Given the description of an element on the screen output the (x, y) to click on. 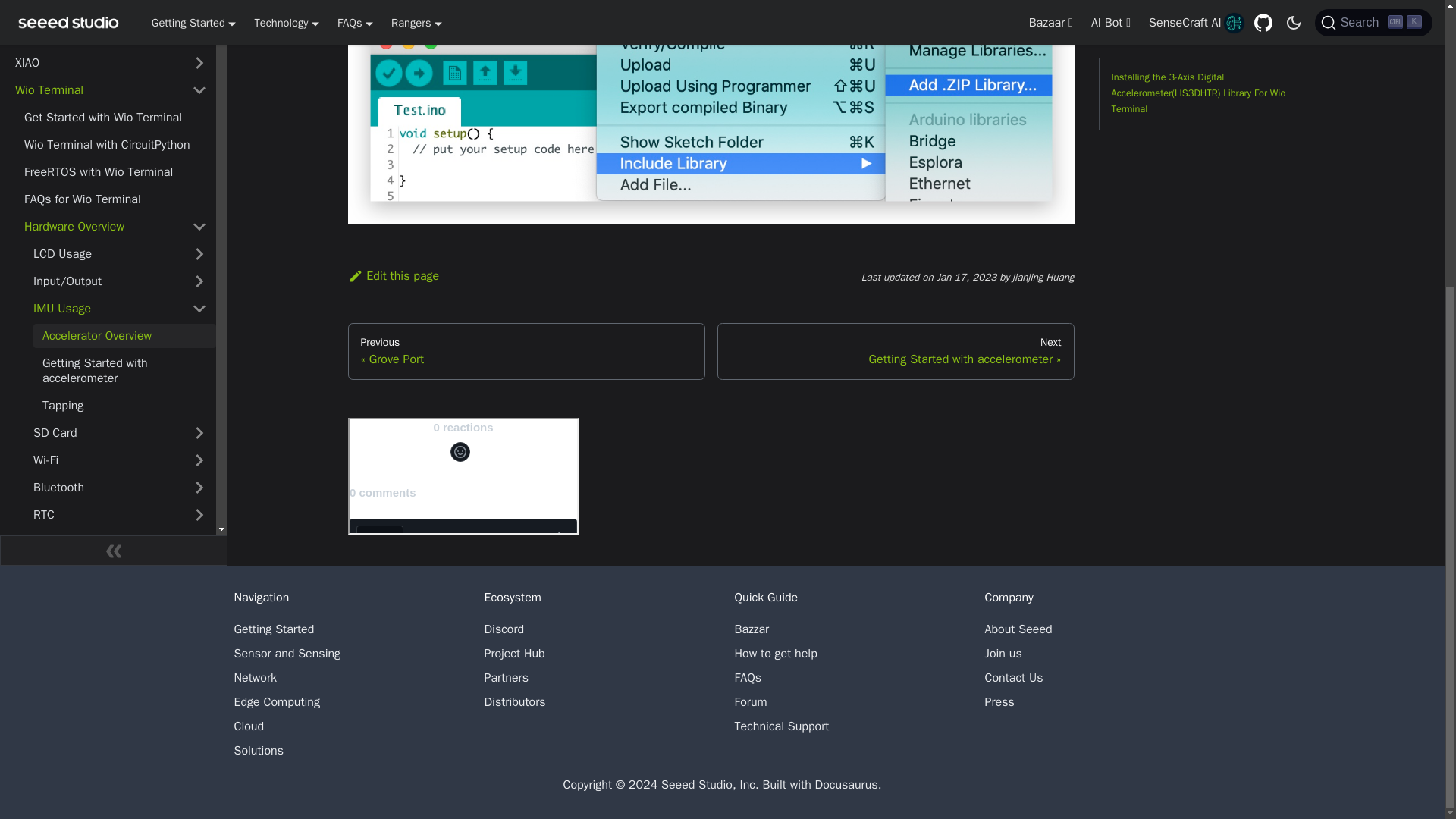
Collapse sidebar (113, 370)
